Given the description of an element on the screen output the (x, y) to click on. 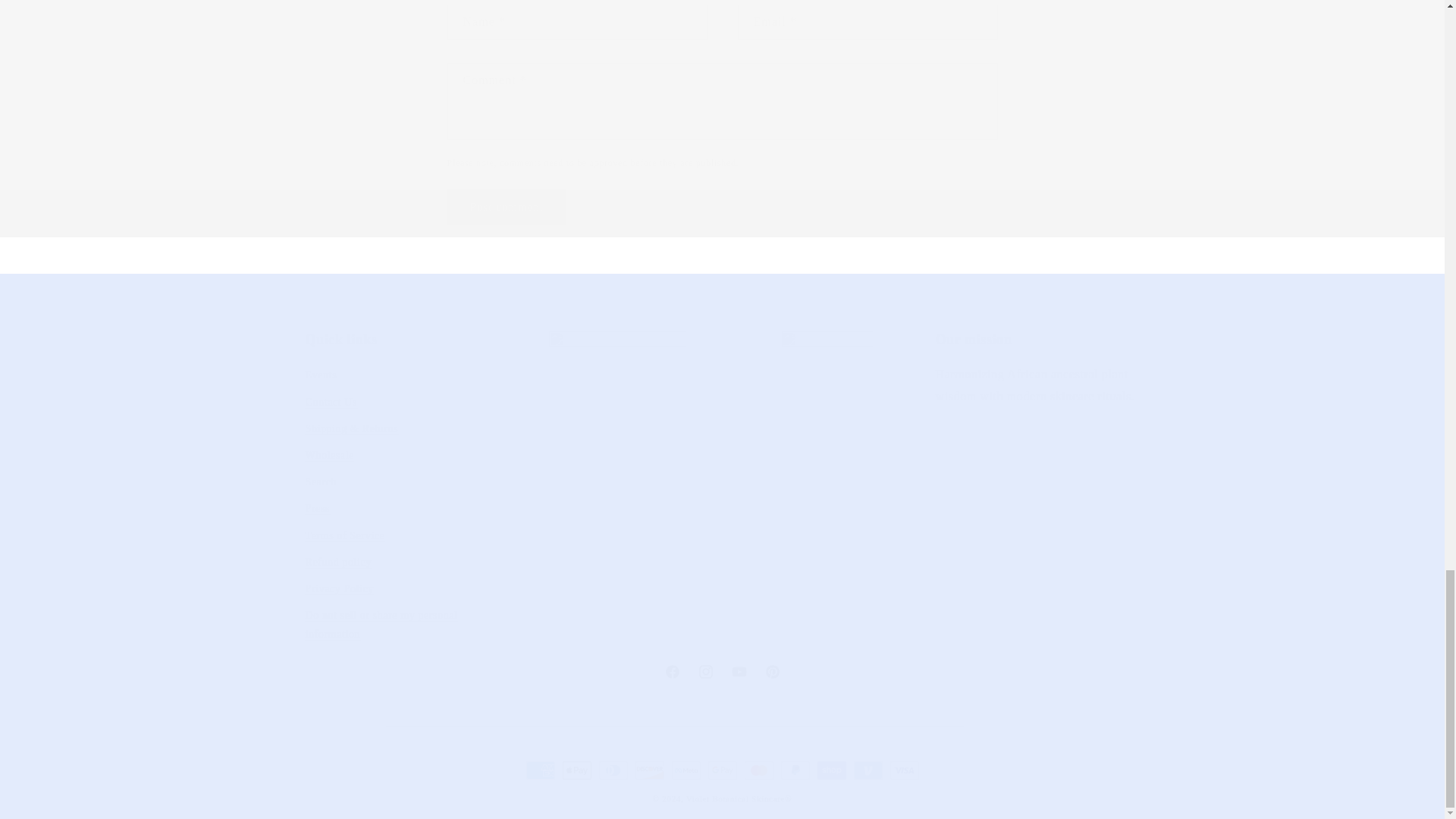
Post comment (721, 671)
